Given the description of an element on the screen output the (x, y) to click on. 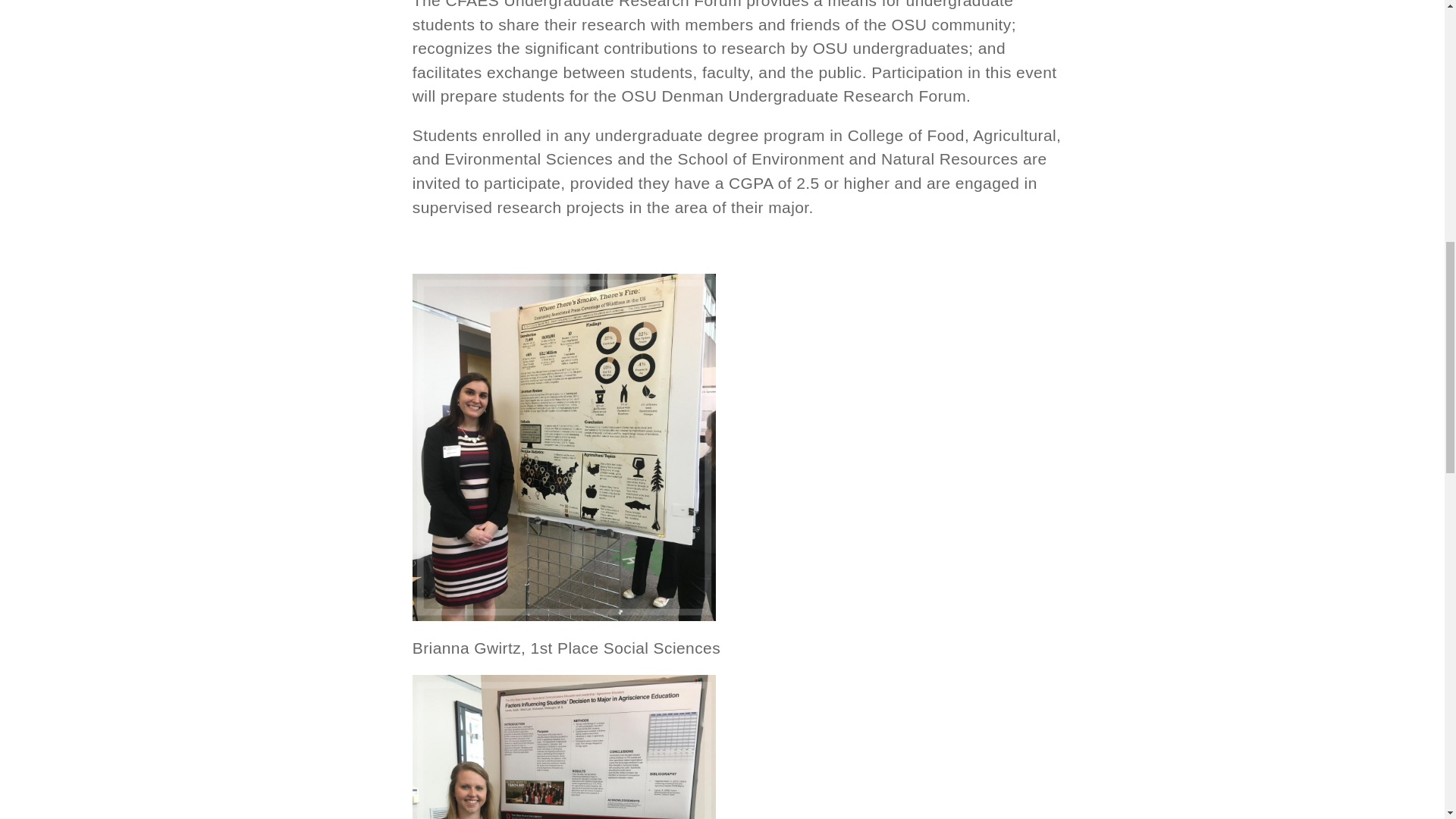
Sarah Landis (564, 746)
